Given the description of an element on the screen output the (x, y) to click on. 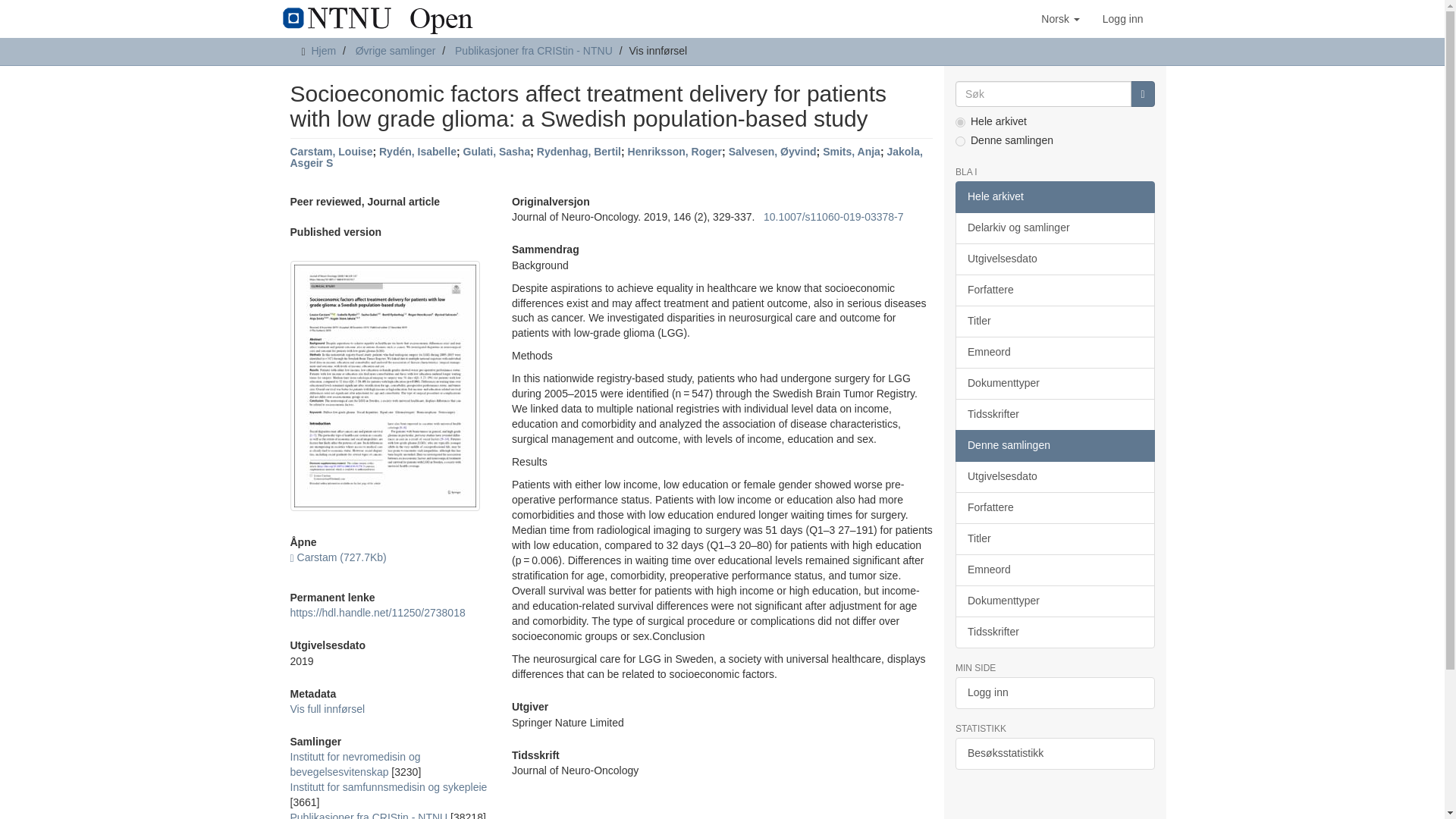
Carstam, Louise (330, 151)
Hjem (323, 50)
Publikasjoner fra CRIStin - NTNU (367, 815)
Henriksson, Roger (674, 151)
Logg inn (1122, 18)
Rydenhag, Bertil (579, 151)
Publikasjoner fra CRIStin - NTNU (533, 50)
Institutt for nevromedisin og bevegelsesvitenskap (354, 764)
Gulati, Sasha (496, 151)
Smits, Anja (851, 151)
Institutt for samfunnsmedisin og sykepleie (387, 787)
Norsk  (1059, 18)
Jakola, Asgeir S (605, 156)
